Given the description of an element on the screen output the (x, y) to click on. 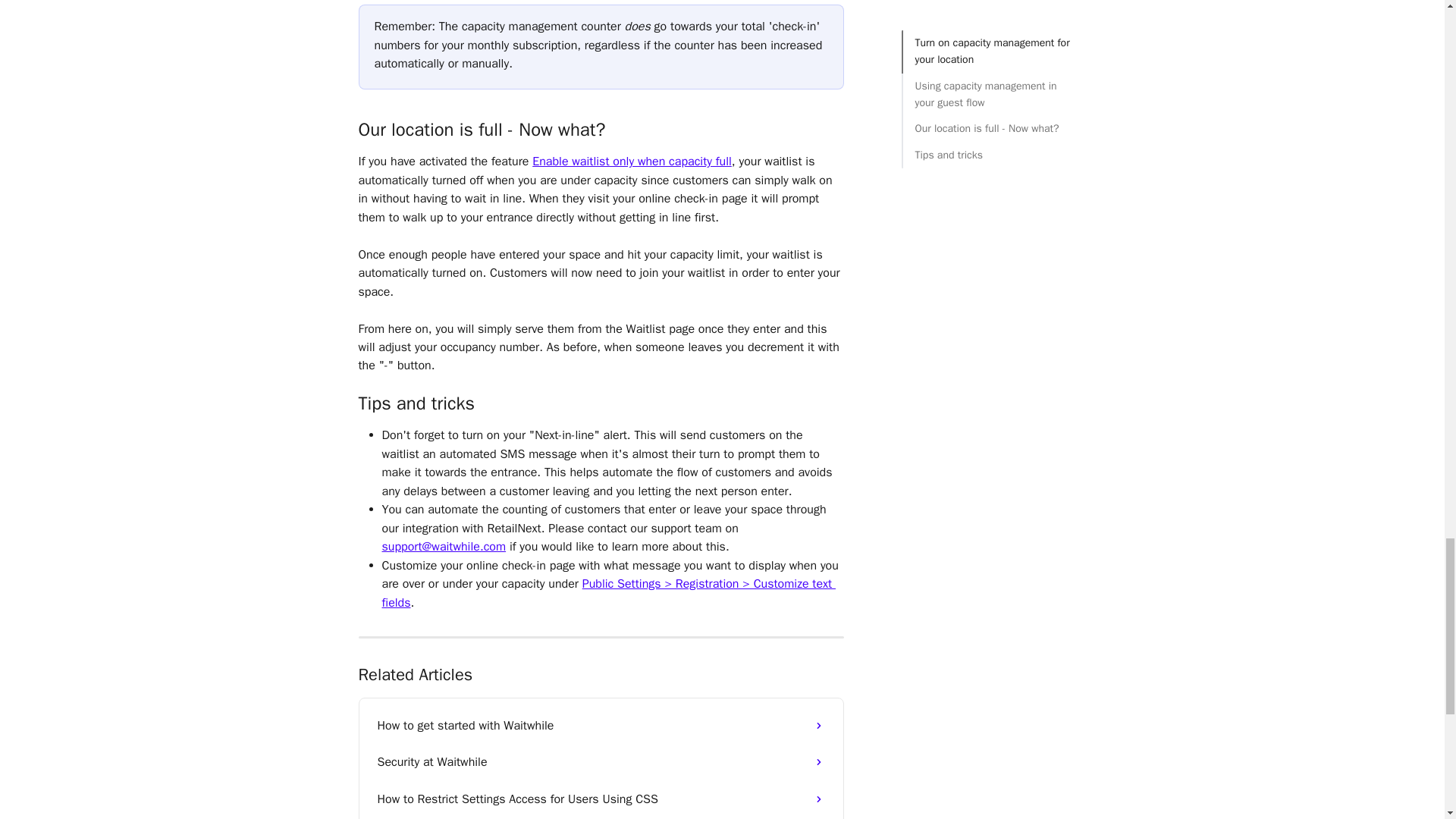
How to get started with Waitwhile (601, 725)
How to Restrict Settings Access for Users Using CSS (601, 799)
Security at Waitwhile (601, 761)
Enable waitlist only when capacity full (632, 160)
